Given the description of an element on the screen output the (x, y) to click on. 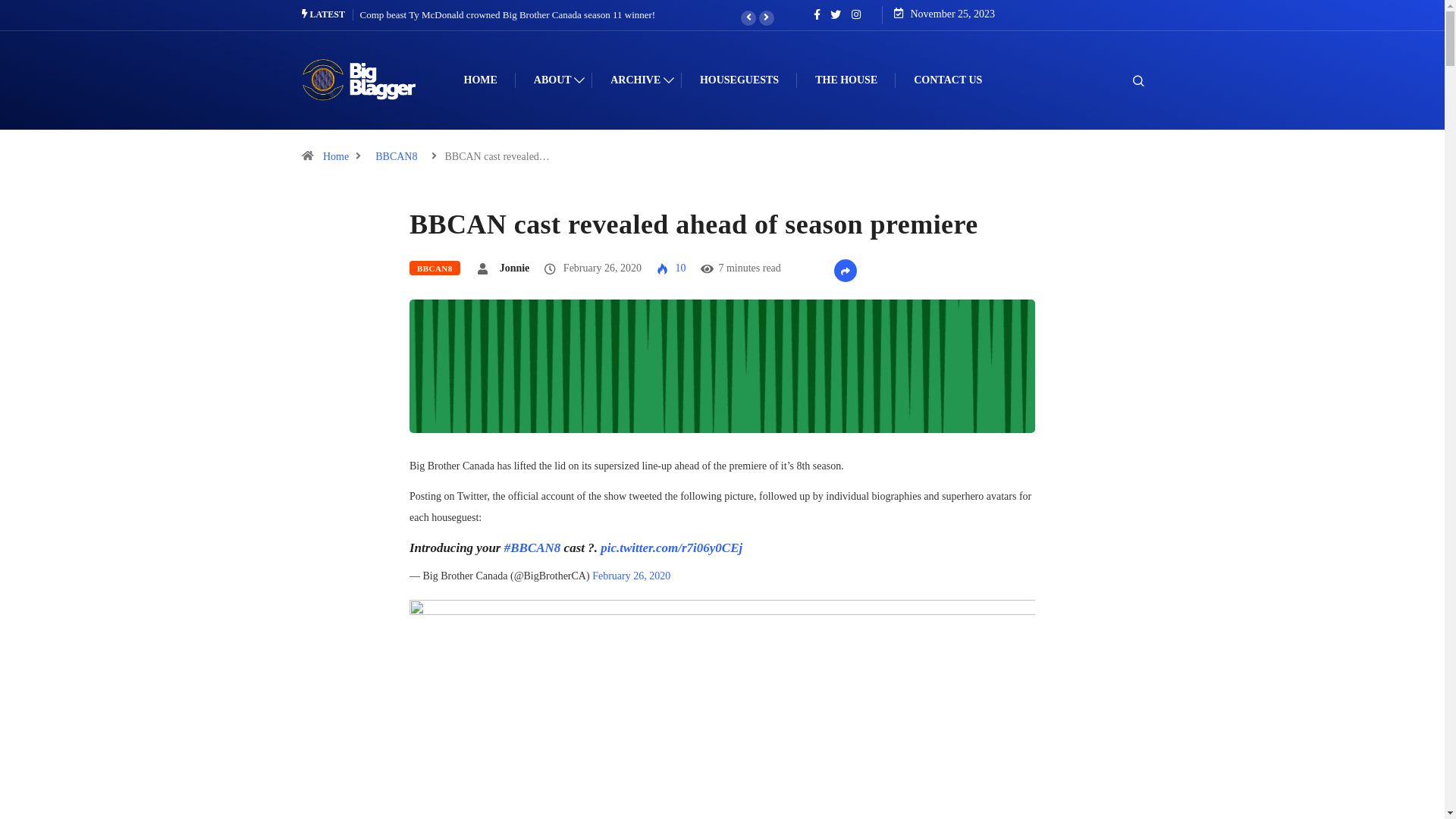
THE HOUSE Element type: text (846, 80)
HOME Element type: text (480, 80)
ARCHIVE Element type: text (636, 80)
February 26, 2020 Element type: text (631, 575)
Instagram Element type: hover (854, 15)
BBCAN8 Element type: text (395, 156)
Home Element type: text (335, 156)
Jonnie Element type: text (514, 267)
#BBCAN8 Element type: text (532, 547)
CONTACT US Element type: text (947, 80)
Twitter Element type: hover (835, 15)
popup modal for search Element type: hover (1117, 80)
ABOUT Element type: text (553, 80)
Facebook Element type: hover (815, 14)
pic.twitter.com/r7i06y0CEj Element type: text (671, 547)
HOUSEGUESTS Element type: text (738, 80)
BBCAN8 Element type: text (434, 267)
